Given the description of an element on the screen output the (x, y) to click on. 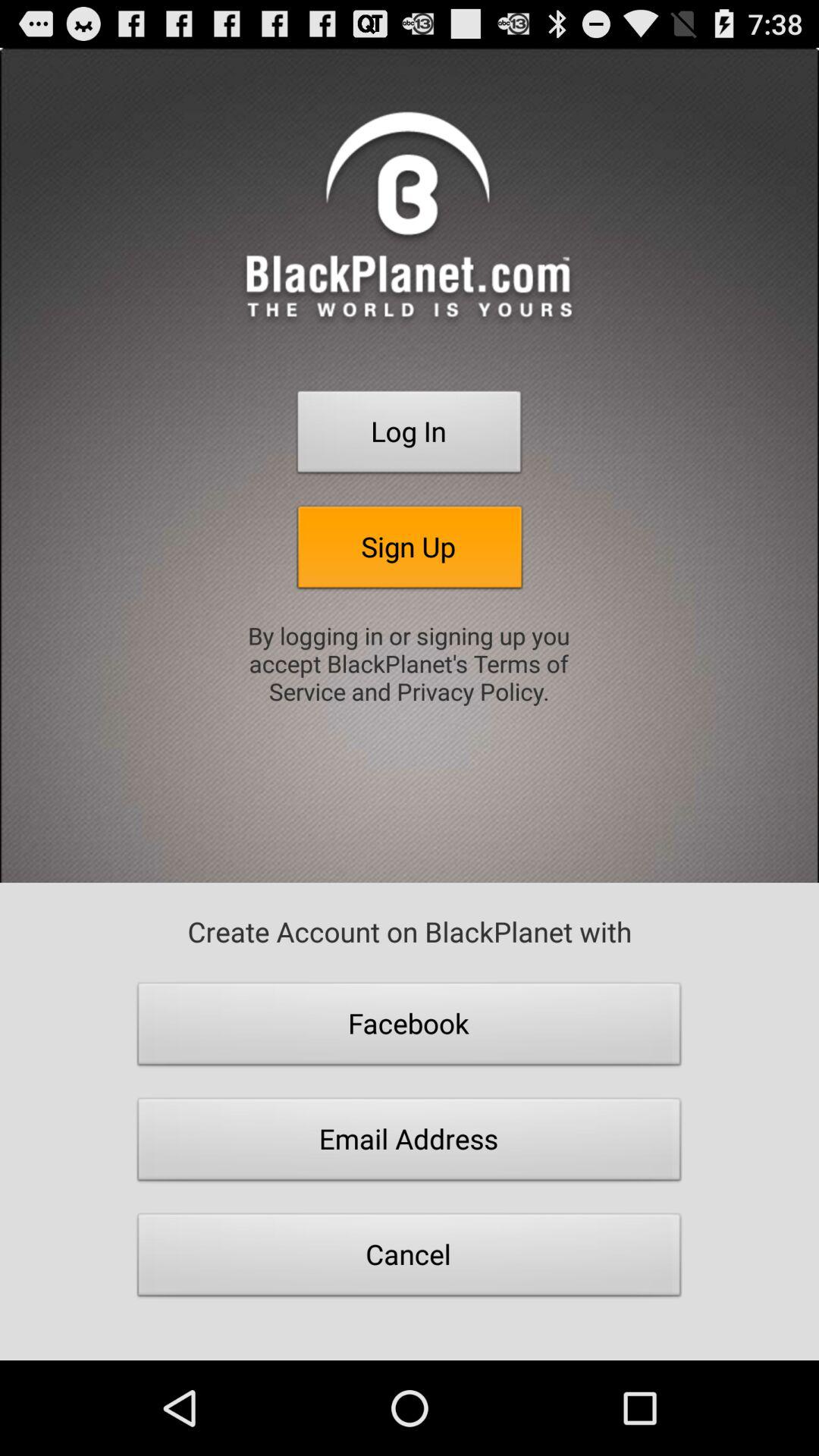
press button above the email address icon (409, 1028)
